Given the description of an element on the screen output the (x, y) to click on. 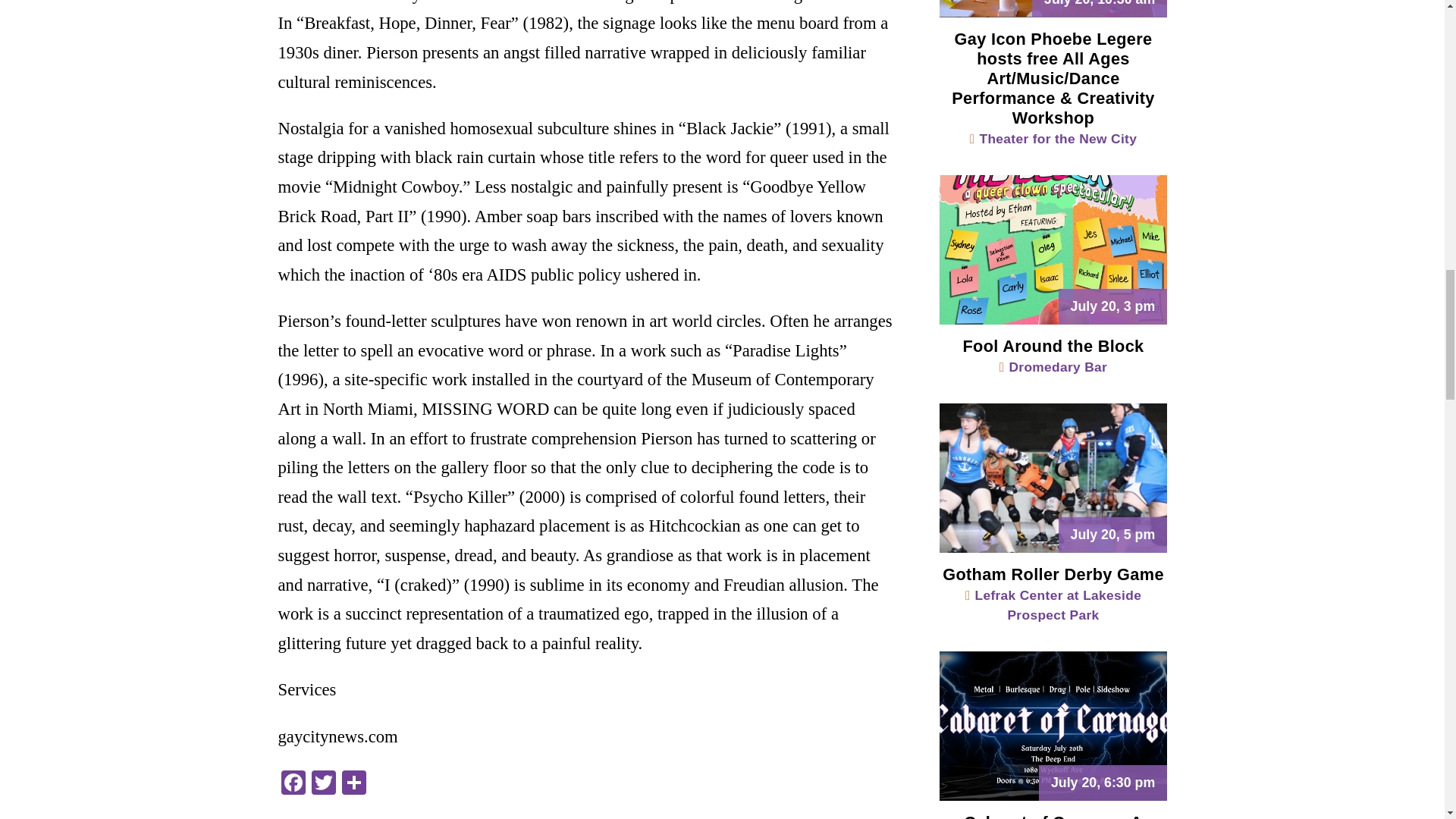
Twitter (322, 784)
Facebook (292, 784)
